Given the description of an element on the screen output the (x, y) to click on. 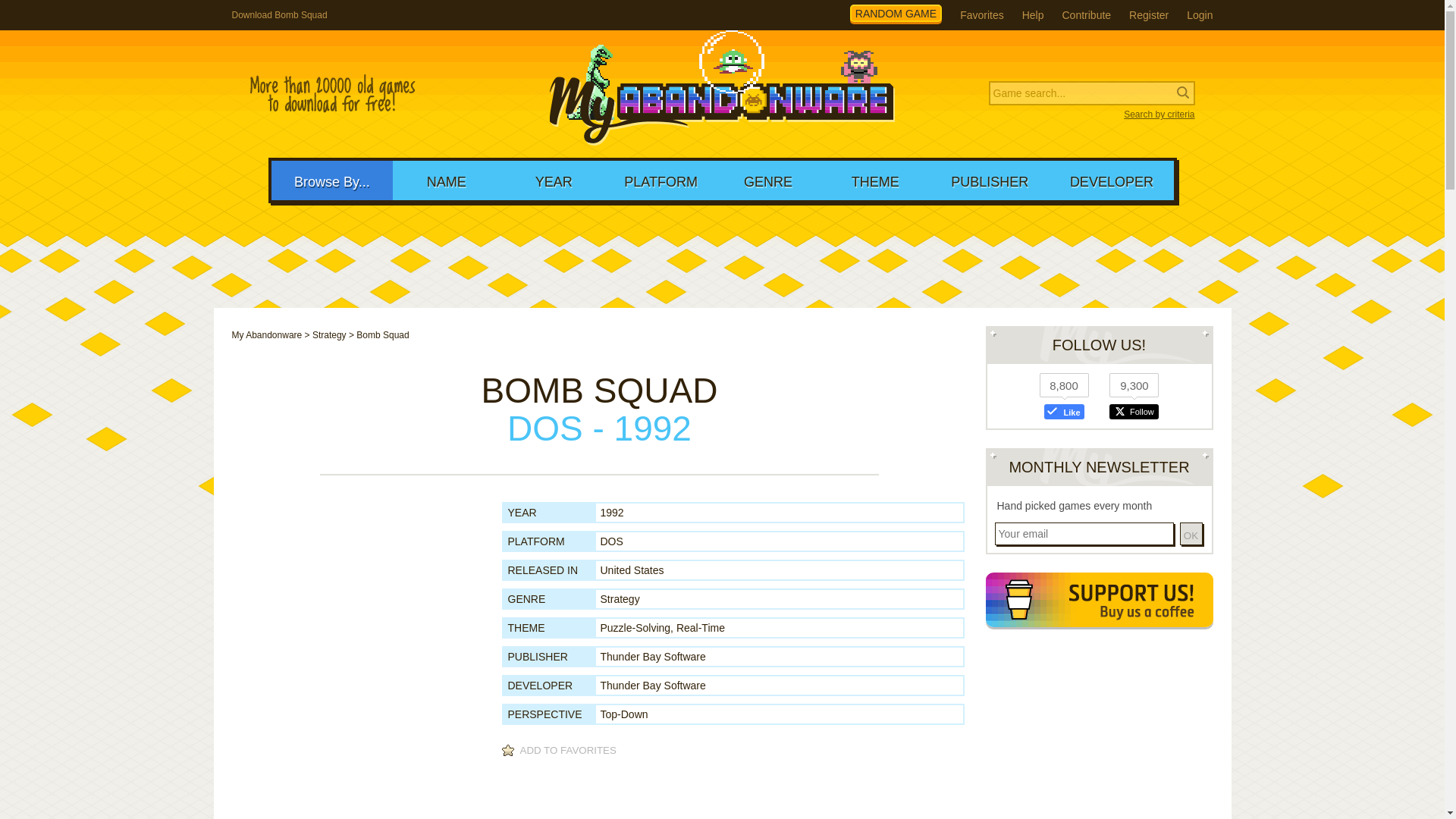
GENRE (767, 179)
Login MAW (1199, 14)
Login (1199, 14)
PLATFORM (660, 179)
Real count is close to 30200 (332, 93)
Real-Time (701, 627)
Browse games of this theme (635, 627)
NAME (446, 179)
DEVELOPER (1112, 179)
PUBLISHER (989, 179)
